Given the description of an element on the screen output the (x, y) to click on. 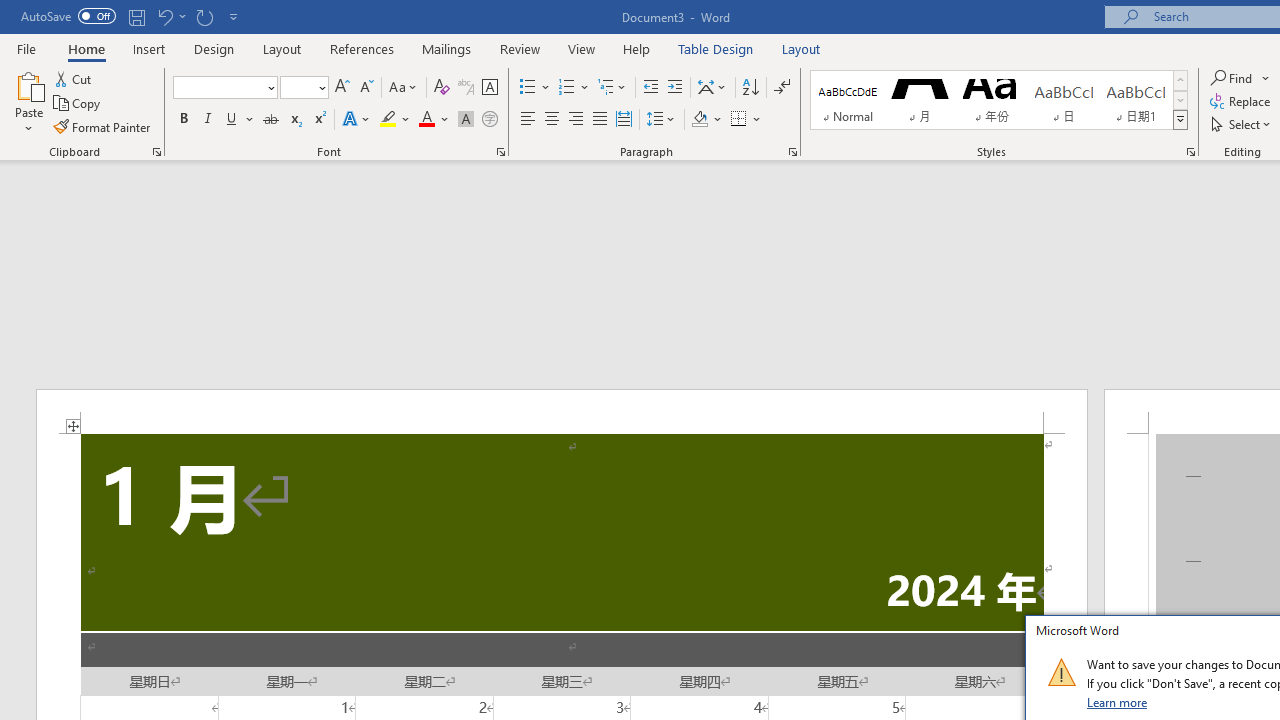
Learn more (1118, 702)
